Given the description of an element on the screen output the (x, y) to click on. 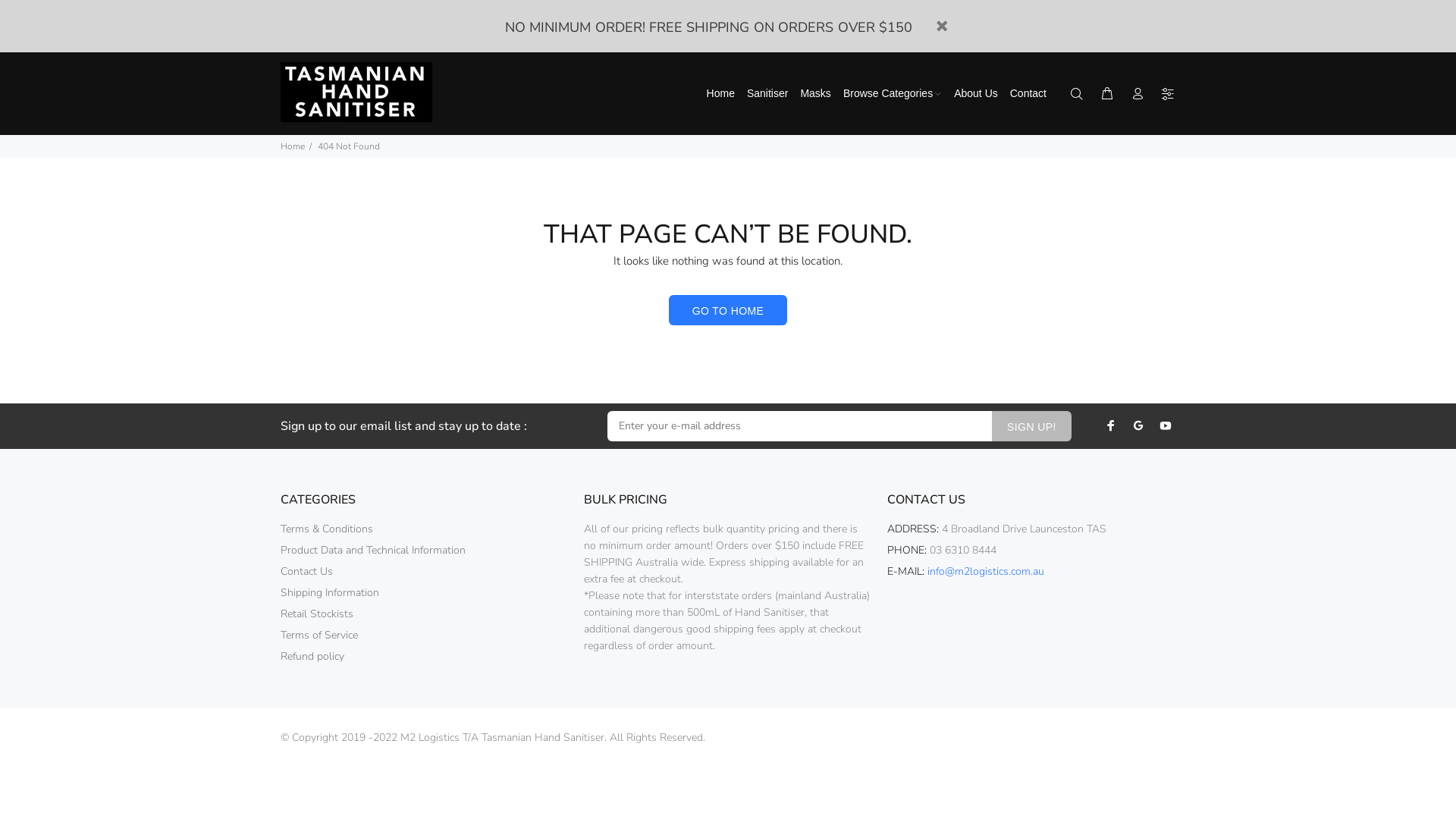
Product Data and Technical Information Element type: text (372, 550)
info@m2logistics.com.au Element type: text (985, 571)
Refund policy Element type: text (312, 656)
Shipping Information Element type: text (329, 592)
Terms of Service Element type: text (318, 635)
Browse Categories Element type: text (892, 93)
Retail Stockists Element type: text (316, 613)
Home Element type: text (292, 146)
Contact Us Element type: text (306, 571)
SIGN UP! Element type: text (1031, 426)
Contact Element type: text (1025, 93)
Sanitiser Element type: text (766, 93)
Masks Element type: text (814, 93)
Terms & Conditions Element type: text (326, 528)
About Us Element type: text (975, 93)
GO TO HOME Element type: text (727, 309)
Home Element type: text (718, 93)
